Given the description of an element on the screen output the (x, y) to click on. 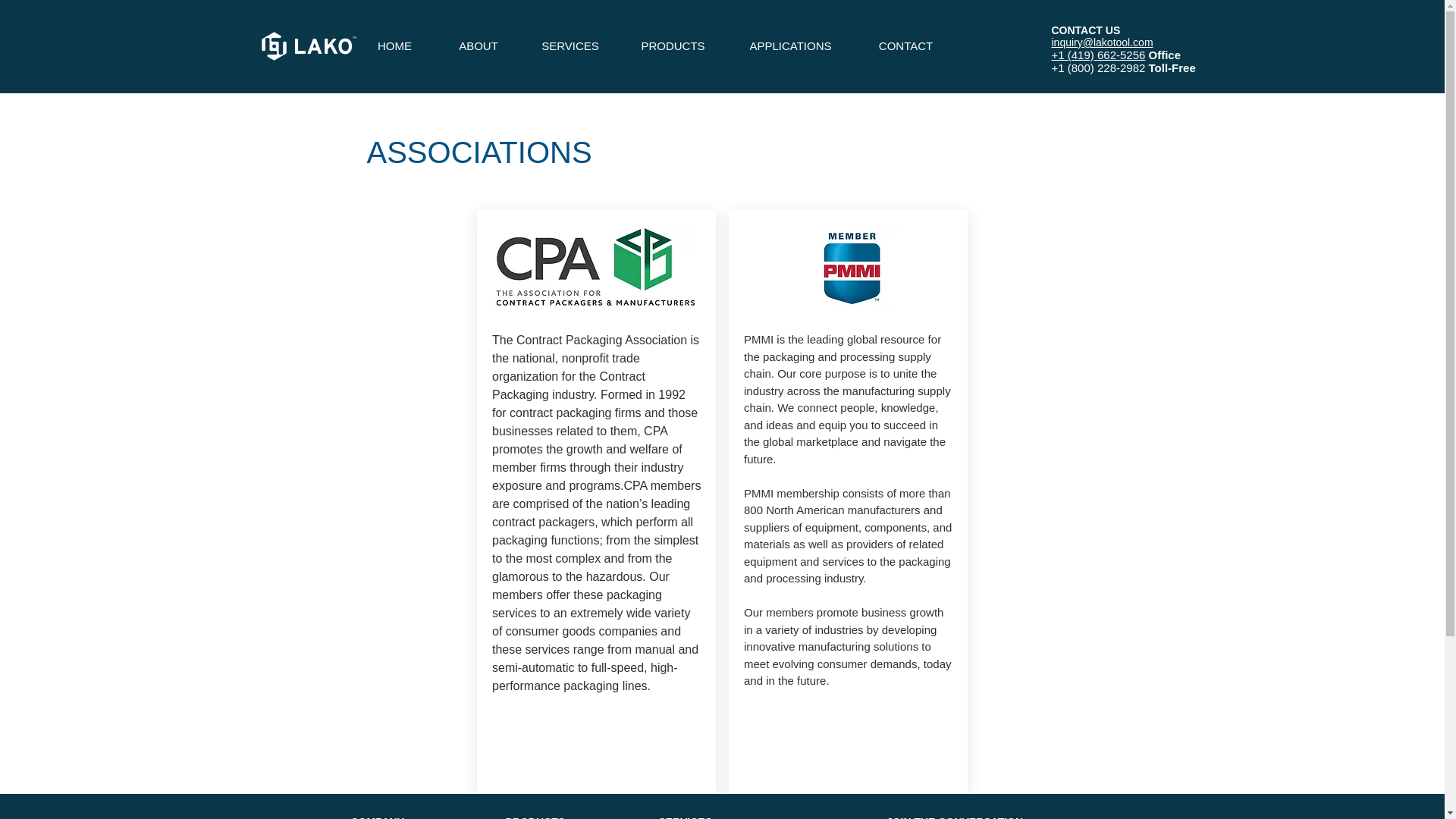
ABOUT (478, 46)
HOME (394, 46)
LAKO-white.png (308, 46)
APPLICATIONS (789, 46)
CONTACT (904, 46)
PRODUCTS (672, 46)
SERVICES (570, 46)
